Given the description of an element on the screen output the (x, y) to click on. 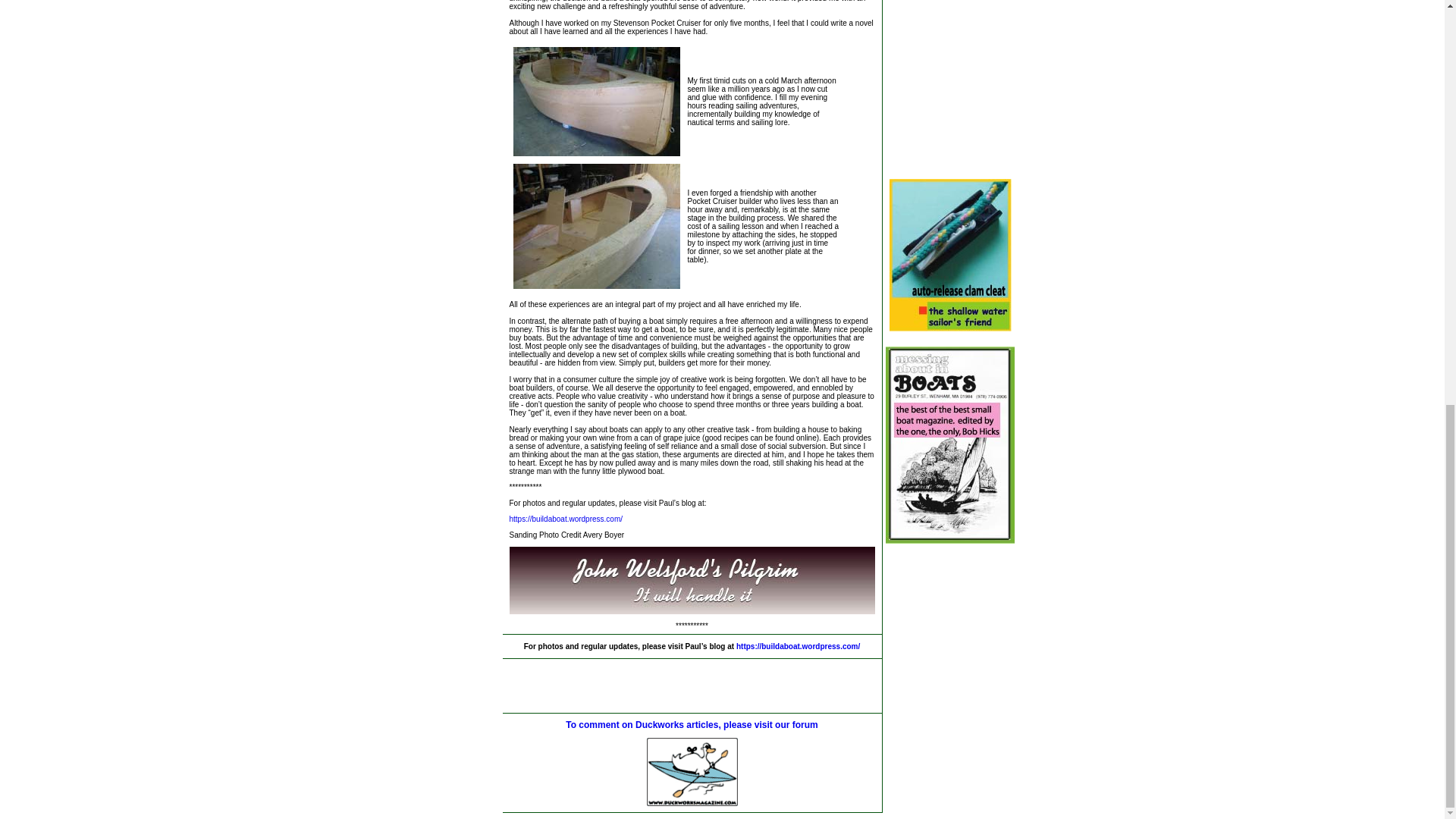
To comment on Duckworks articles, please visit our forum (692, 724)
